Given the description of an element on the screen output the (x, y) to click on. 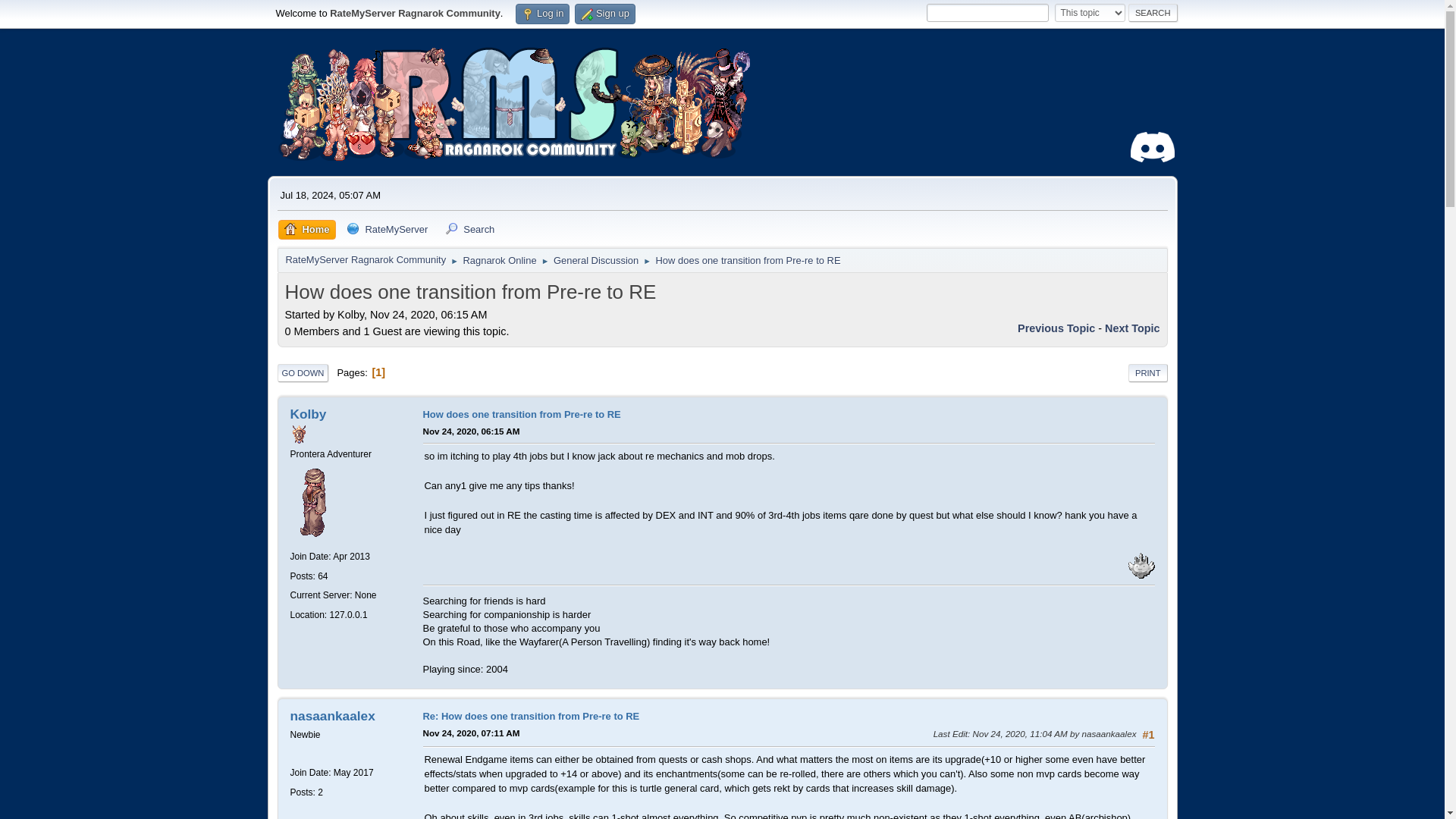
RMS Discord (1151, 146)
PRINT (1147, 372)
Nov 24, 2020, 07:11 AM (471, 732)
Nov 24, 2020, 06:15 AM (471, 431)
RateMyServer (386, 230)
View the profile of Kolby (307, 413)
How does one transition from Pre-re to RE (748, 257)
Ragnarok Online (499, 257)
RateMyServer Ragnarok Community (365, 256)
  How does one transition from Pre-re to RE (471, 431)
View the profile of nasaankaalex (331, 715)
Next Topic (1132, 328)
nasaankaalex (331, 715)
Search (1152, 13)
How does one transition from Pre-re to RE (522, 414)
